Given the description of an element on the screen output the (x, y) to click on. 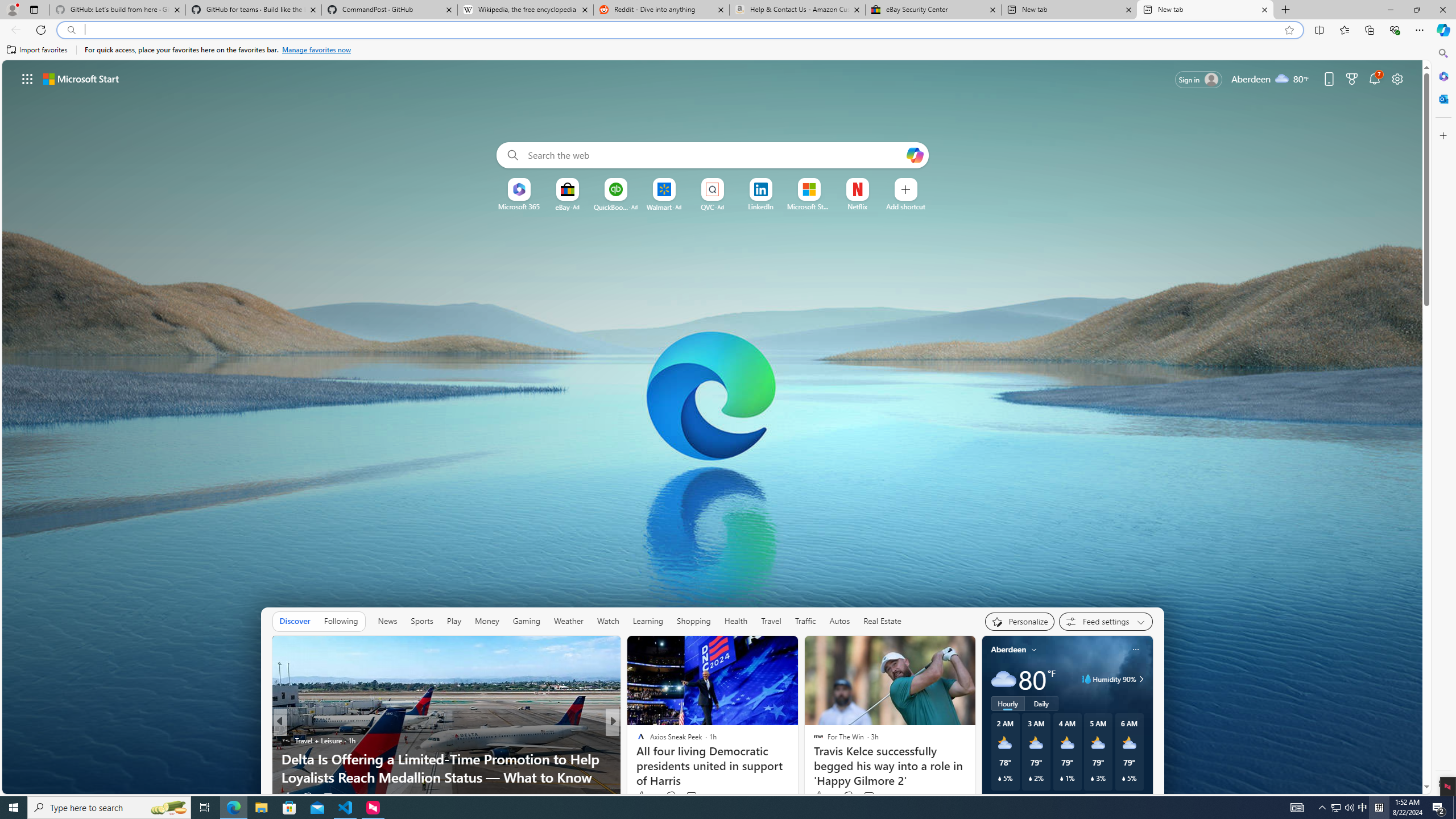
Add a site (906, 206)
Traffic (804, 621)
Manage favorites now (316, 49)
Feed settings (1105, 621)
34 Like (642, 796)
View comments 4 Comment (690, 796)
App launcher (27, 78)
83 Like (642, 796)
